Given the description of an element on the screen output the (x, y) to click on. 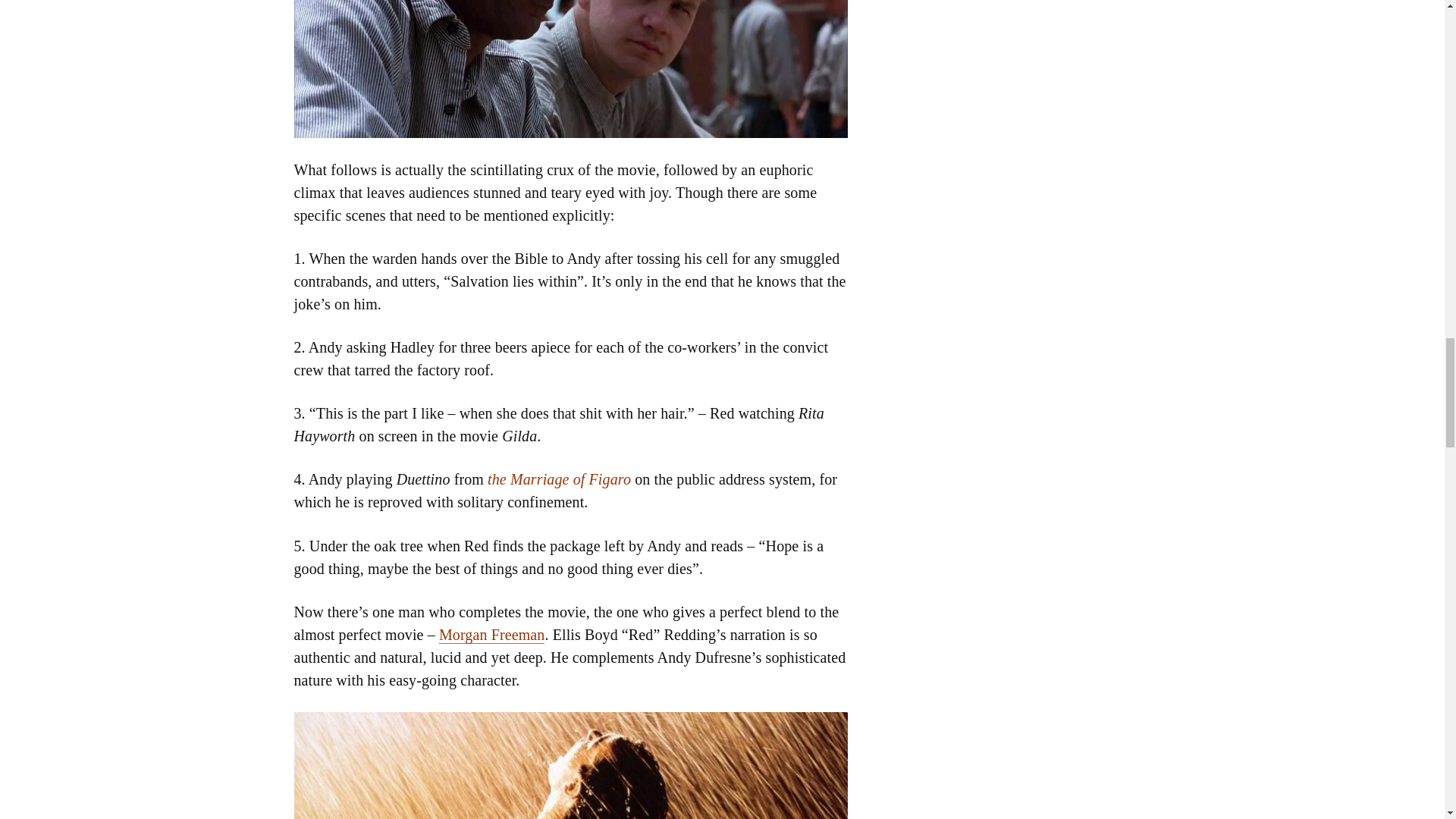
Morgan Freeman (491, 634)
